Given the description of an element on the screen output the (x, y) to click on. 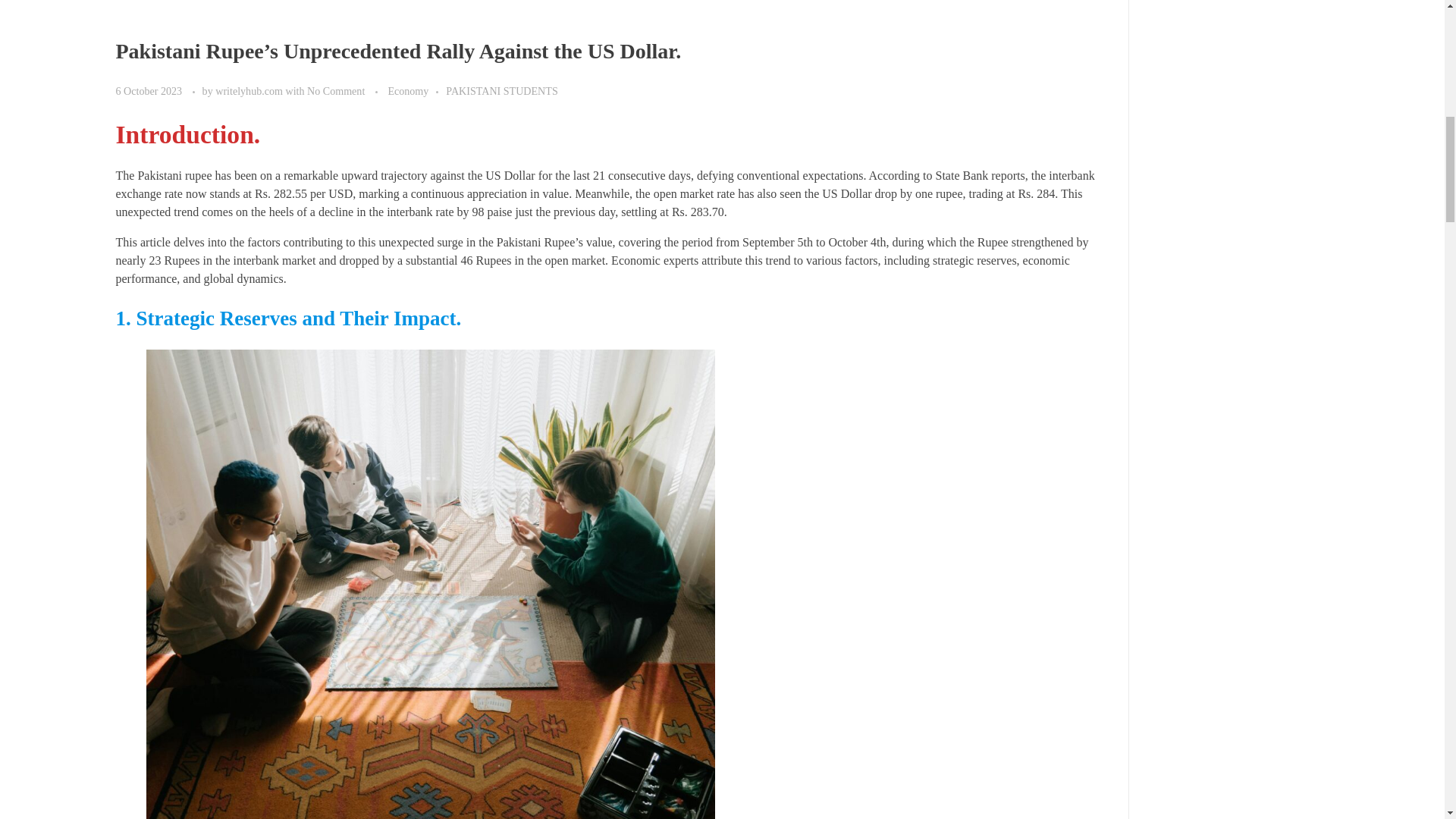
writelyhub.com (250, 91)
Economy (416, 91)
View all posts in Economy (416, 91)
PAKISTANI STUDENTS (501, 91)
No Comment (336, 91)
View all posts in PAKISTANI STUDENTS (501, 91)
6 October 2023 (149, 91)
View all posts by writelyhub.com (250, 91)
